Given the description of an element on the screen output the (x, y) to click on. 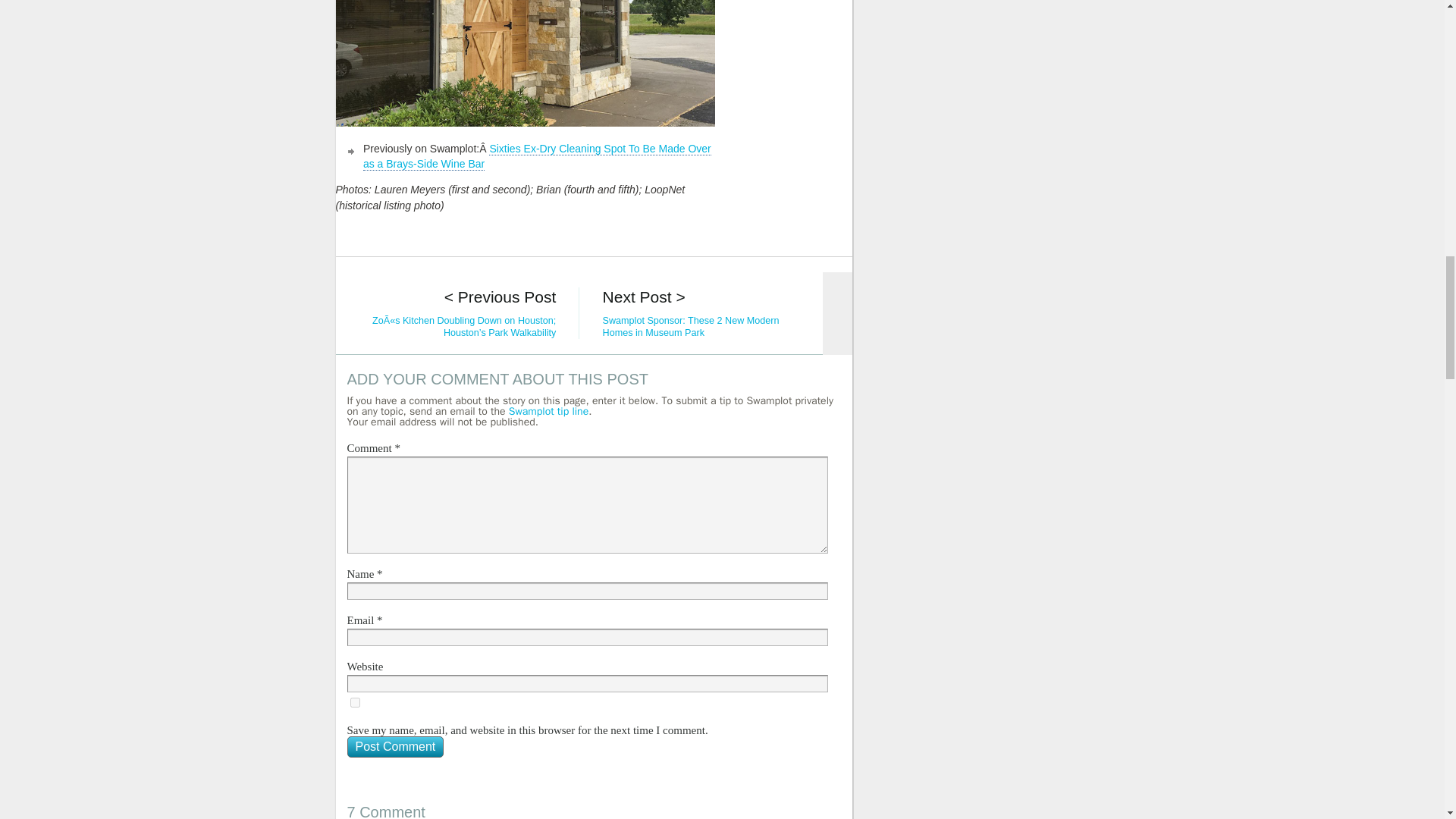
yes (354, 702)
Post Comment (395, 746)
